Given the description of an element on the screen output the (x, y) to click on. 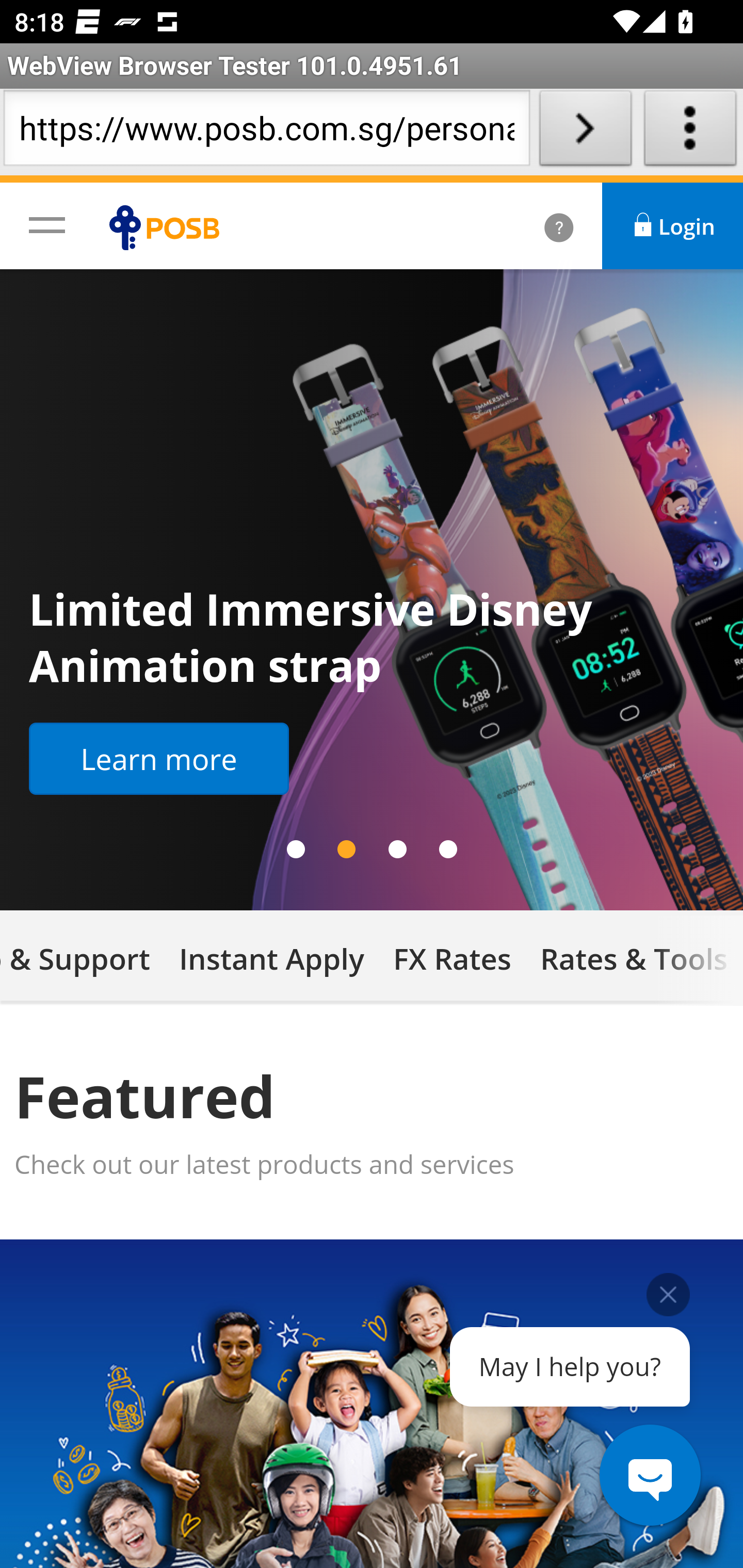
https://www.posb.com.sg/personal/default.page (266, 132)
Load URL (585, 132)
About WebView (690, 132)
javascript:void(0); (46, 223)
POSB logo (169, 226)
ﱲ (537, 226)
Login  Login (673, 225)
Learn more (158, 758)
Help & Support (83, 956)
Instant Apply (271, 956)
FX Rates (452, 956)
Rates & Tools (634, 956)
